Given the description of an element on the screen output the (x, y) to click on. 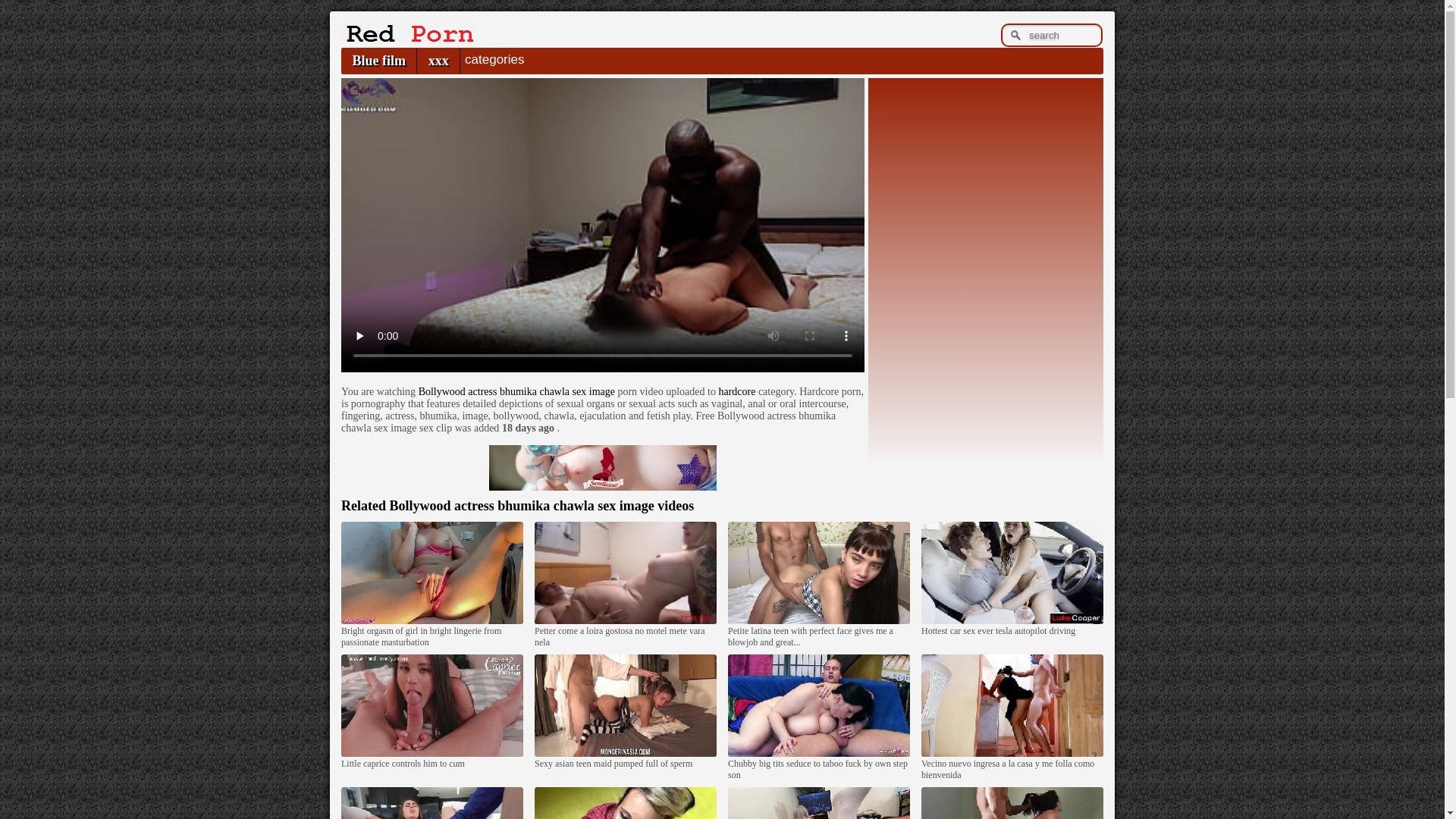
Bollywood actress bhumika chawla sex image videos Element type: text (541, 504)
categories Element type: text (494, 59)
tiktok porn Element type: hover (602, 466)
Indian Porn Element type: hover (407, 39)
xxx Element type: text (438, 60)
hardcore Element type: text (736, 390)
Blue film Element type: text (379, 60)
Bollywood actress bhumika chawla sex image Element type: text (516, 390)
